Given the description of an element on the screen output the (x, y) to click on. 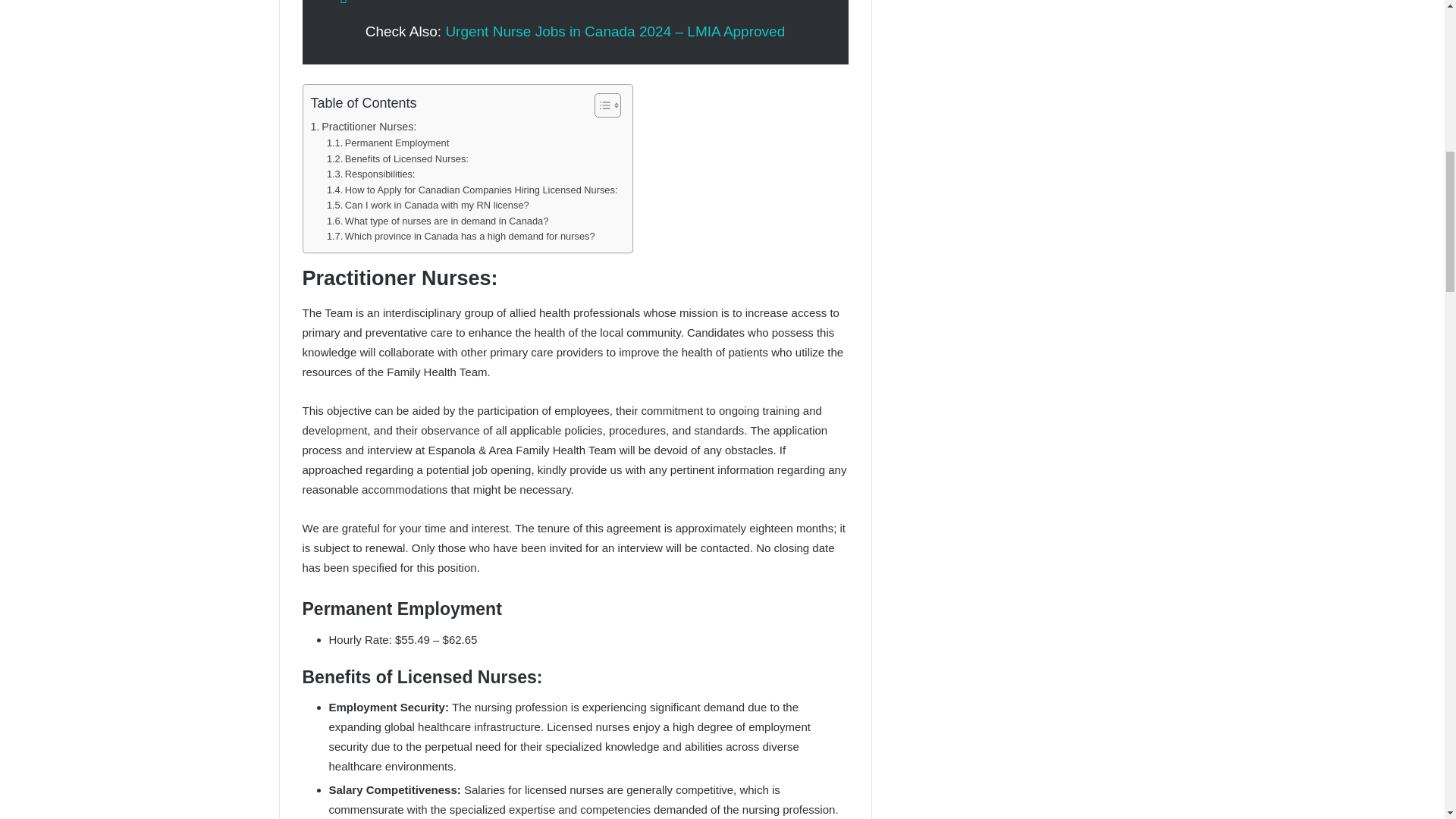
How to Apply for Canadian Companies Hiring Licensed Nurses: (471, 190)
What type of nurses are in demand in Canada? (437, 221)
Responsibilities: (370, 174)
Practitioner Nurses: (363, 126)
Benefits of Licensed Nurses: (397, 159)
Permanent Employment (387, 143)
Permanent Employment (387, 143)
Responsibilities: (370, 174)
Which province in Canada has a high demand for nurses? (460, 236)
Which province in Canada has a high demand for nurses? (460, 236)
Practitioner Nurses: (363, 126)
How to Apply for Canadian Companies Hiring Licensed Nurses: (471, 190)
Benefits of Licensed Nurses: (397, 159)
Can I work in Canada with my RN license? (427, 205)
What type of nurses are in demand in Canada? (437, 221)
